Given the description of an element on the screen output the (x, y) to click on. 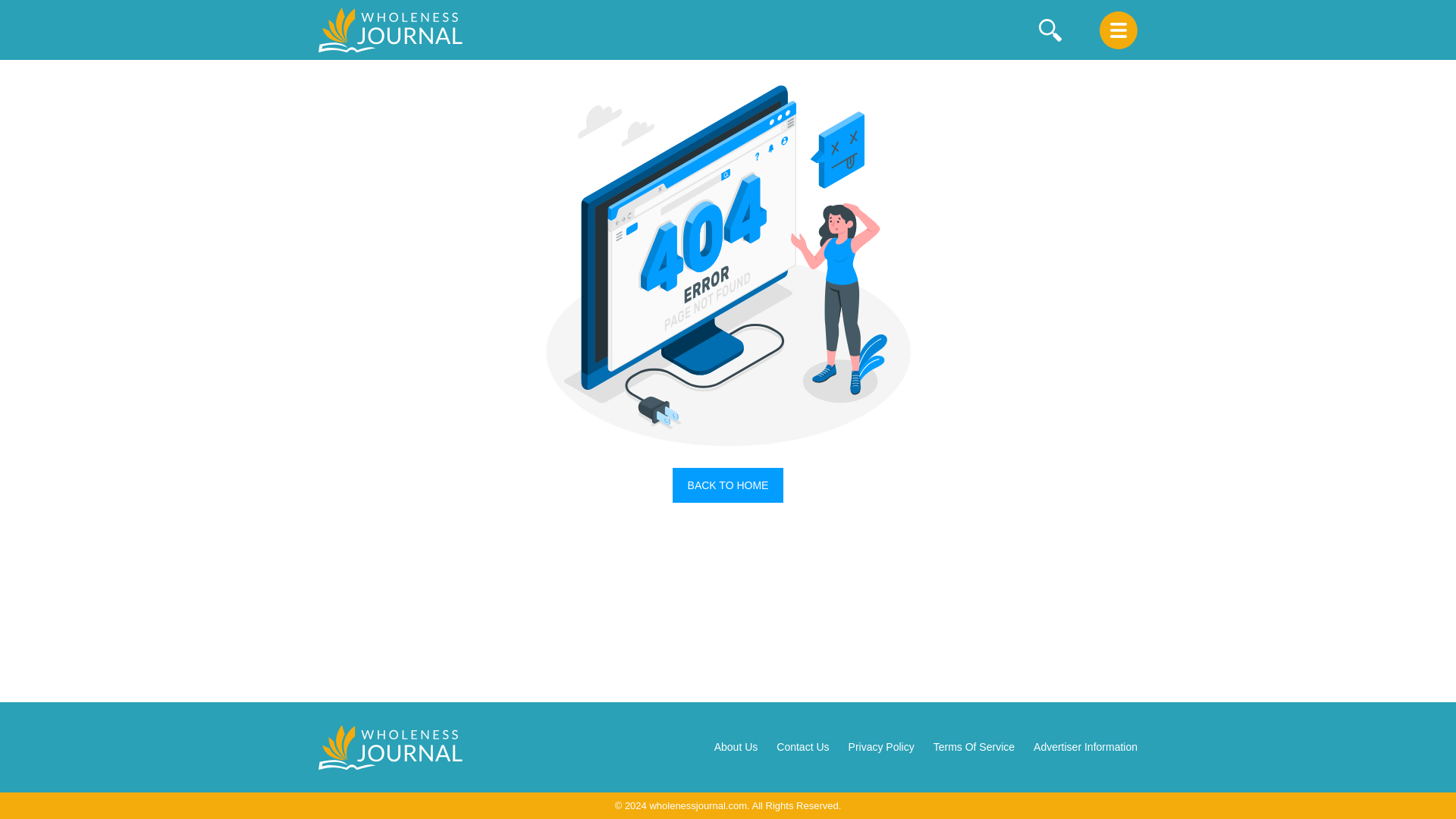
Terms Of Service (973, 746)
About Us (736, 746)
BACK TO HOME (728, 484)
Advertiser Information (1085, 746)
Privacy Policy (881, 746)
Contact Us (802, 746)
